Given the description of an element on the screen output the (x, y) to click on. 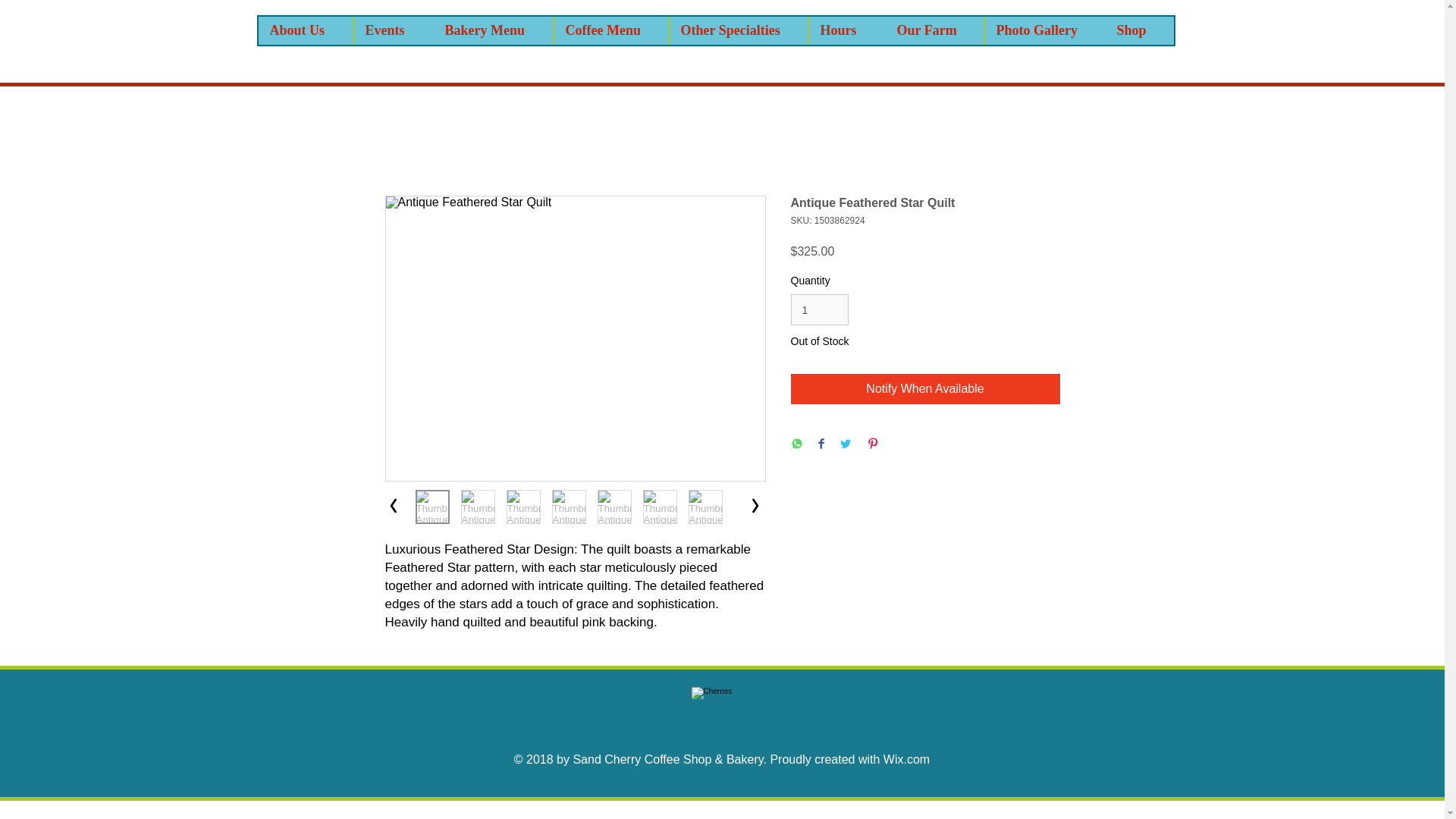
Hours (846, 30)
Notify When Available (924, 388)
1 (818, 309)
Our Farm (933, 30)
Shop (1138, 30)
Photo Gallery (1044, 30)
Other Specialties (738, 30)
Wix.com (906, 758)
Coffee Menu (610, 30)
Events (392, 30)
About Us (304, 30)
Bakery Menu (492, 30)
